Given the description of an element on the screen output the (x, y) to click on. 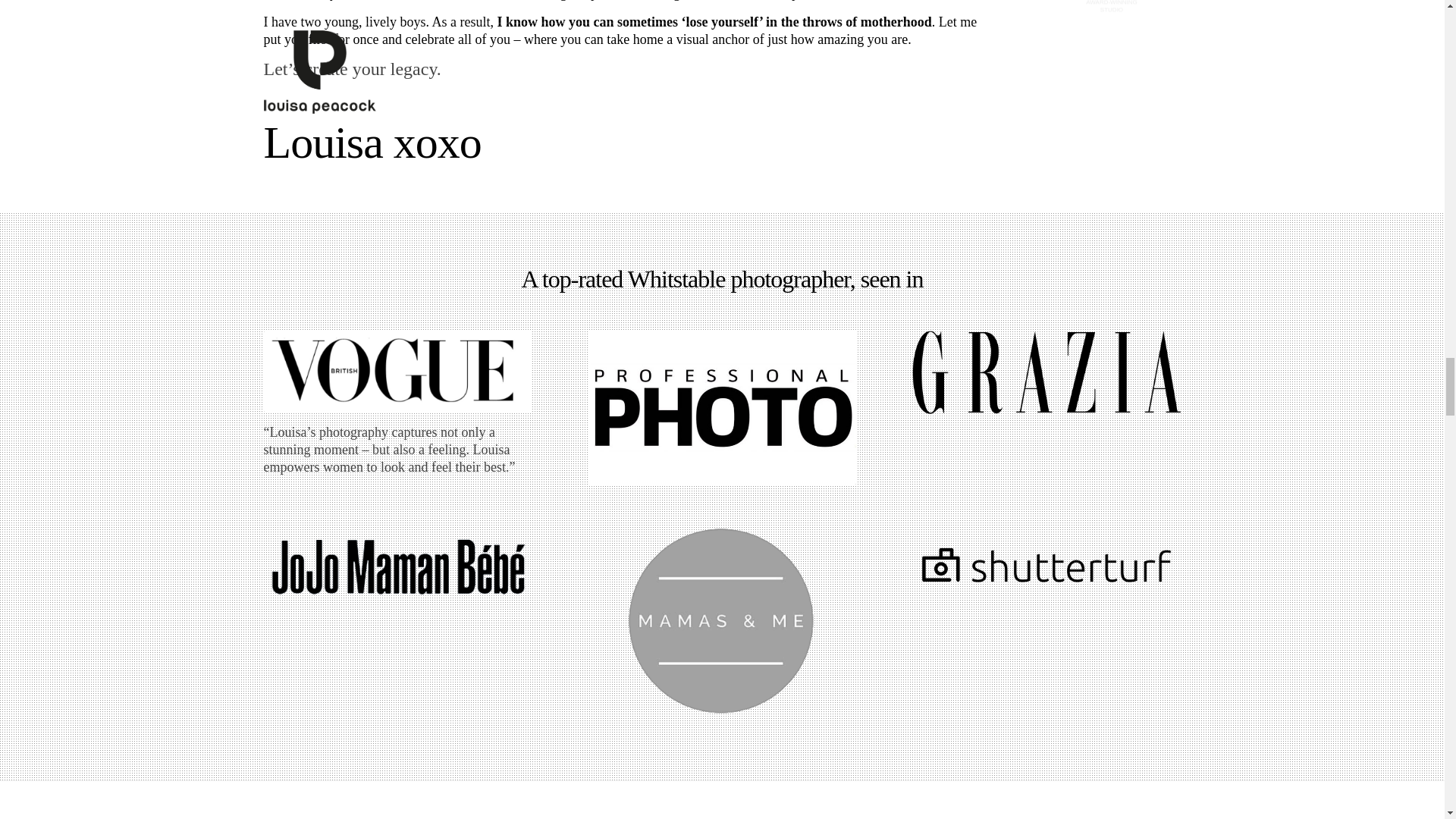
professional-photo-magazine-feature-badge (722, 407)
Shutterturf best newborn photographers Louisa Peacock (1046, 568)
Vogue Louisa Peacock photography (397, 371)
JojoMamanBebe-1584x500 (397, 568)
